Given the description of an element on the screen output the (x, y) to click on. 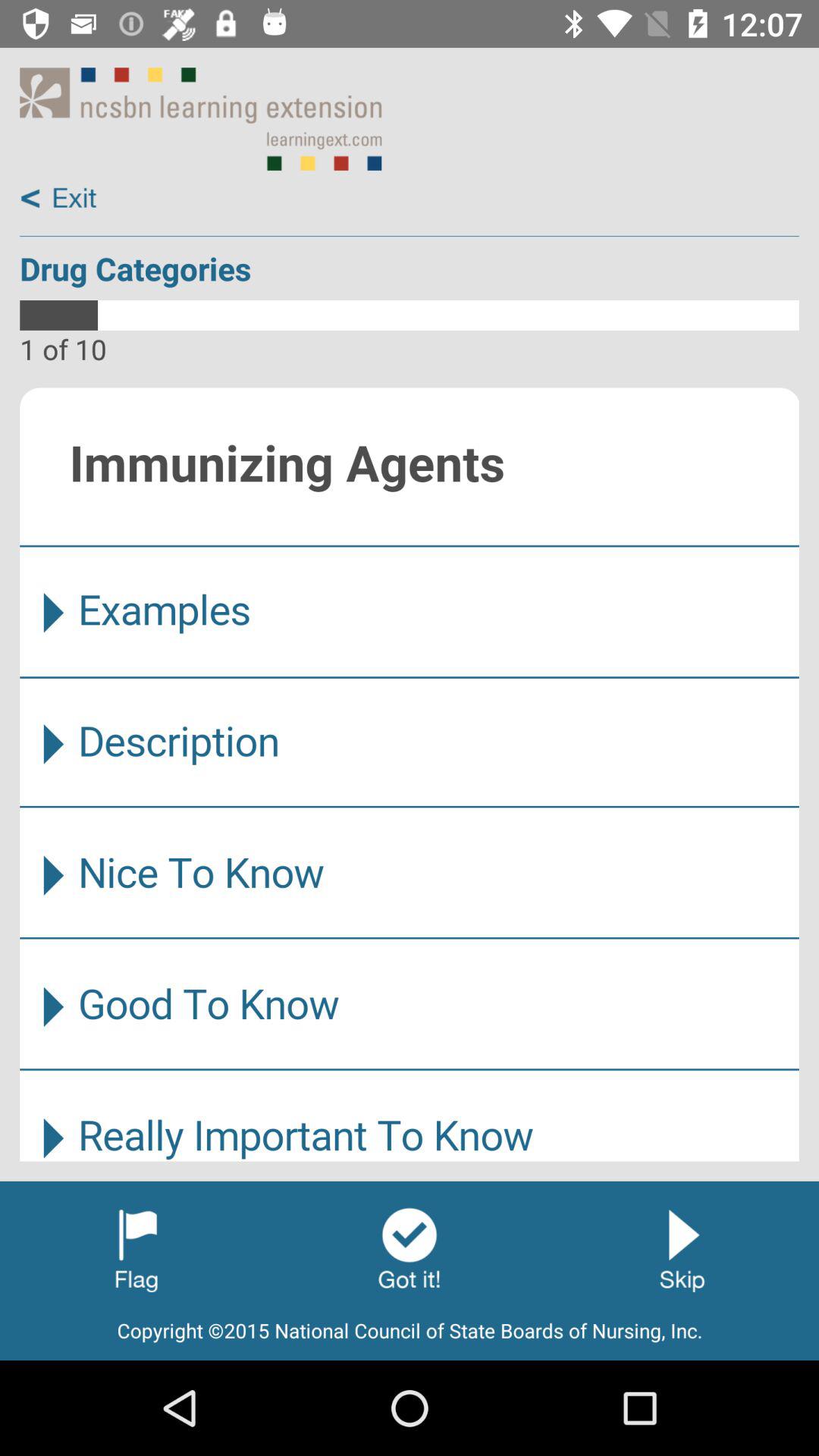
content area (409, 774)
